Given the description of an element on the screen output the (x, y) to click on. 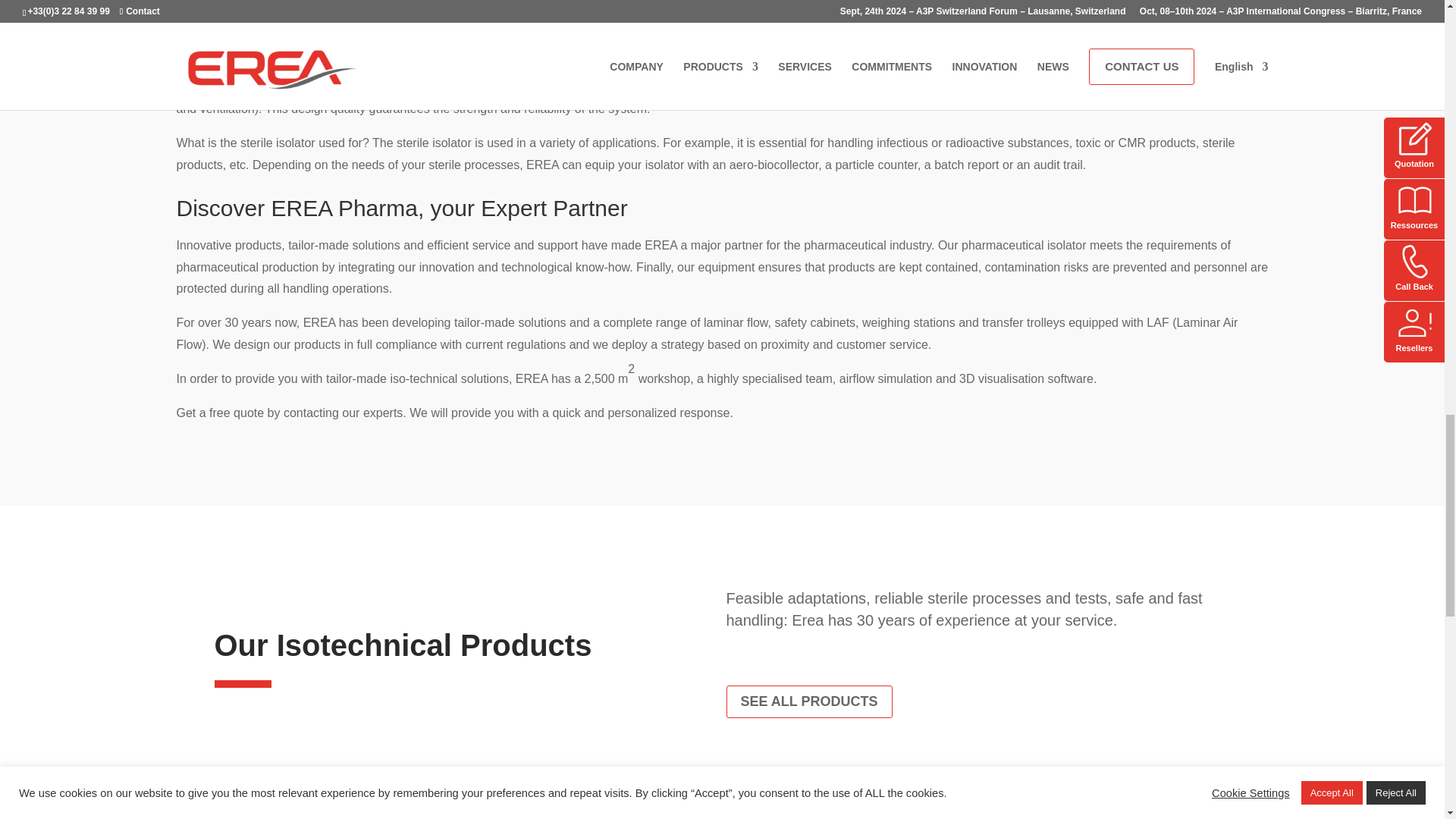
SEE ALL PRODUCTS (809, 701)
